Given the description of an element on the screen output the (x, y) to click on. 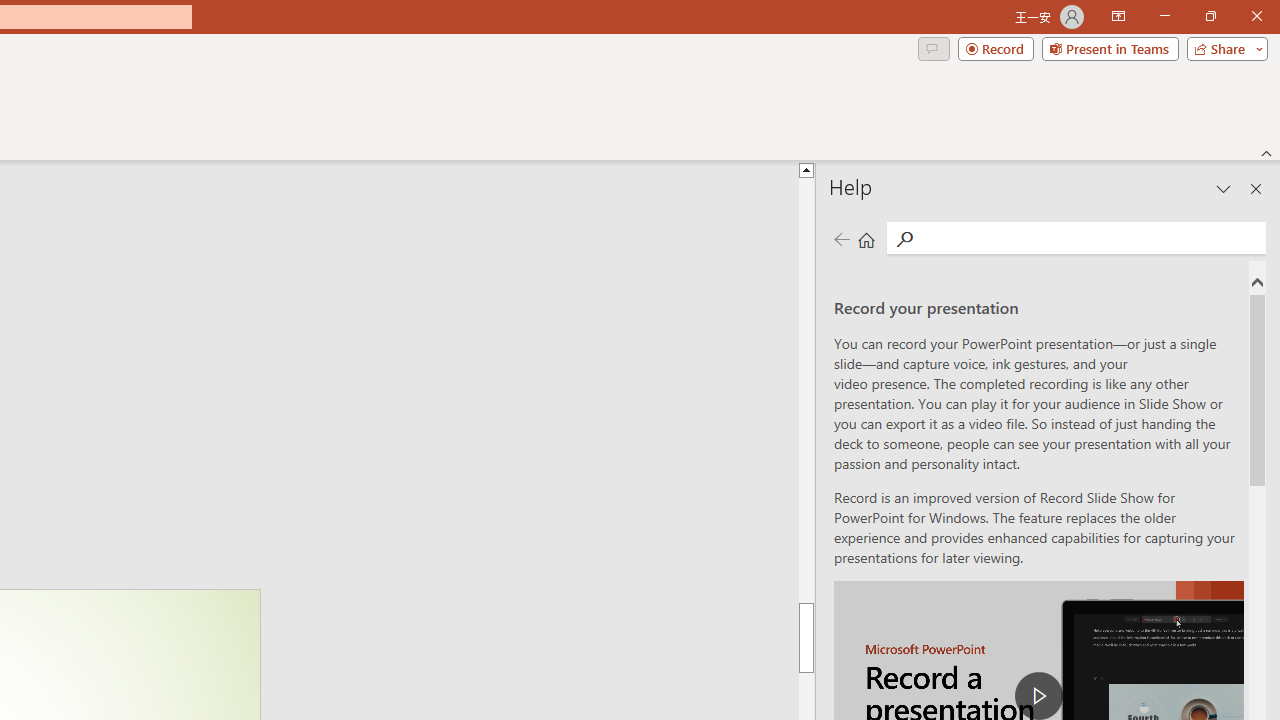
Previous page (841, 238)
play Record a Presentation (1038, 695)
